Given the description of an element on the screen output the (x, y) to click on. 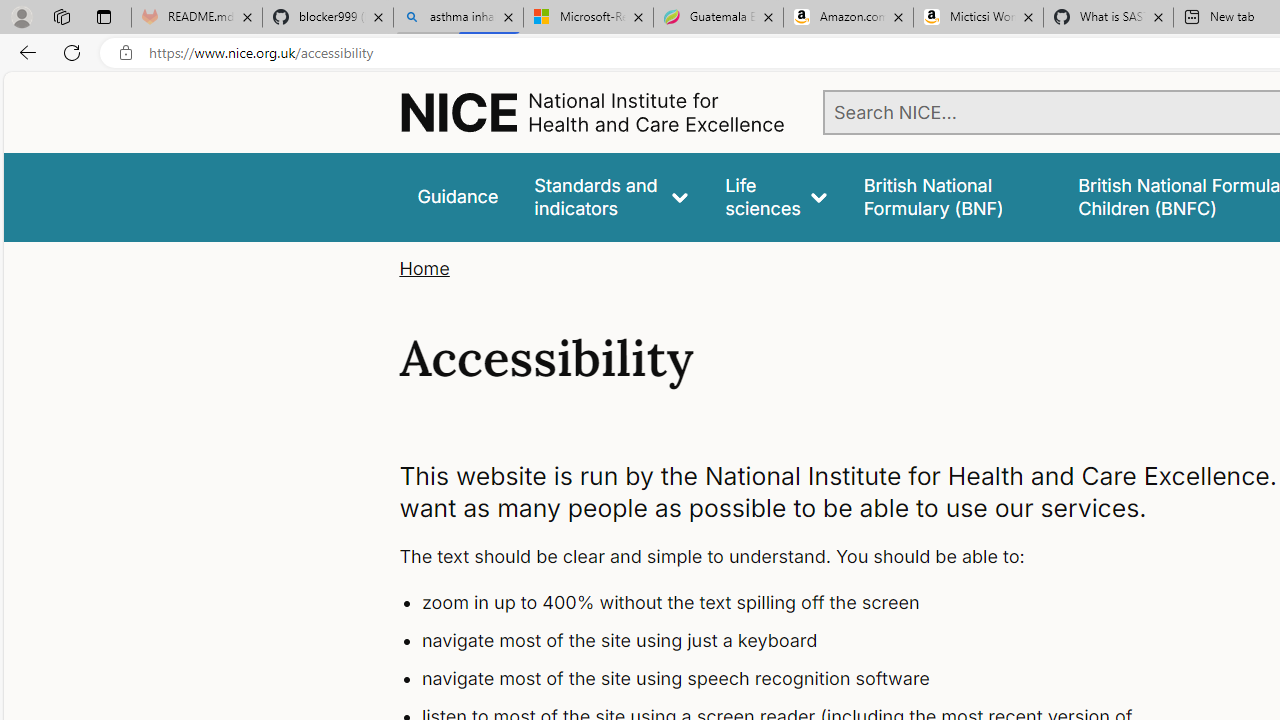
asthma inhaler - Search (458, 17)
Guidance (458, 196)
navigate most of the site using speech recognition software (796, 678)
Life sciences (776, 196)
